Given the description of an element on the screen output the (x, y) to click on. 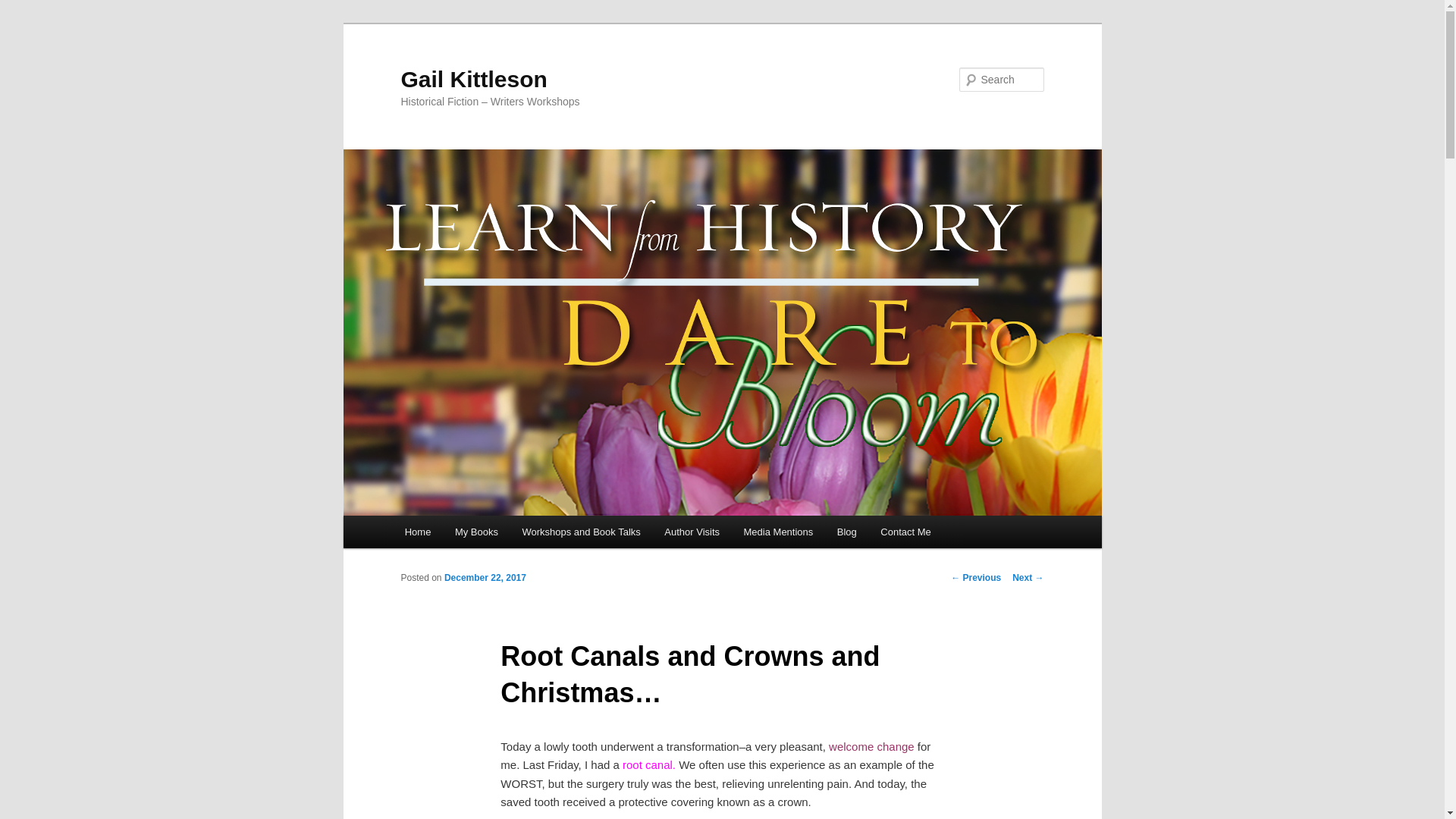
Search (24, 8)
Contact Me (906, 531)
My Books (476, 531)
7:16 pm (484, 577)
Home (417, 531)
Media Mentions (778, 531)
Blog (847, 531)
Author Visits (692, 531)
December 22, 2017 (484, 577)
Gail Kittleson (473, 78)
Workshops and Book Talks (581, 531)
